Given the description of an element on the screen output the (x, y) to click on. 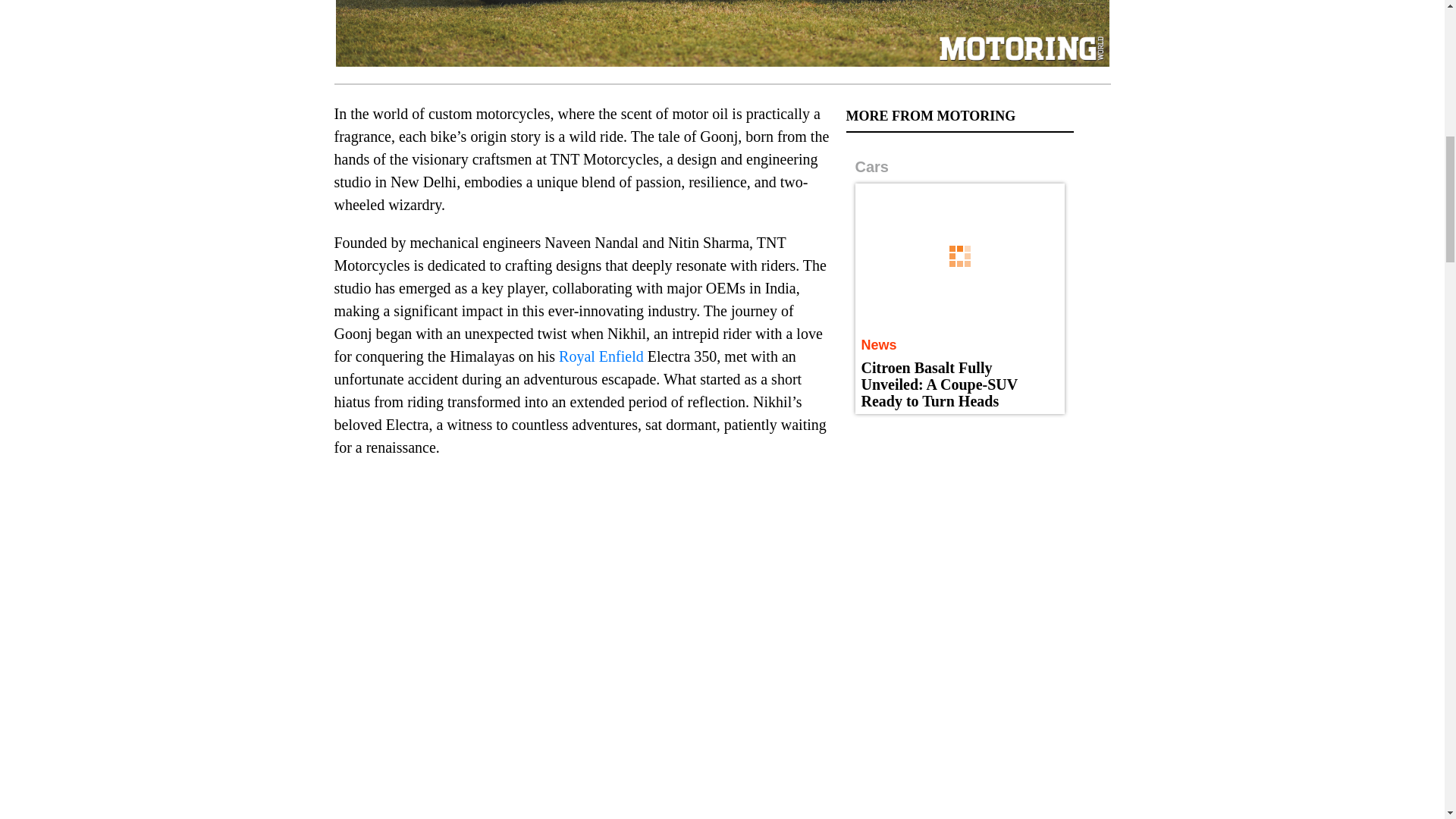
Royal Enfield (601, 356)
Cars (872, 166)
3rd party ad content (959, 524)
News (878, 344)
